Given the description of an element on the screen output the (x, y) to click on. 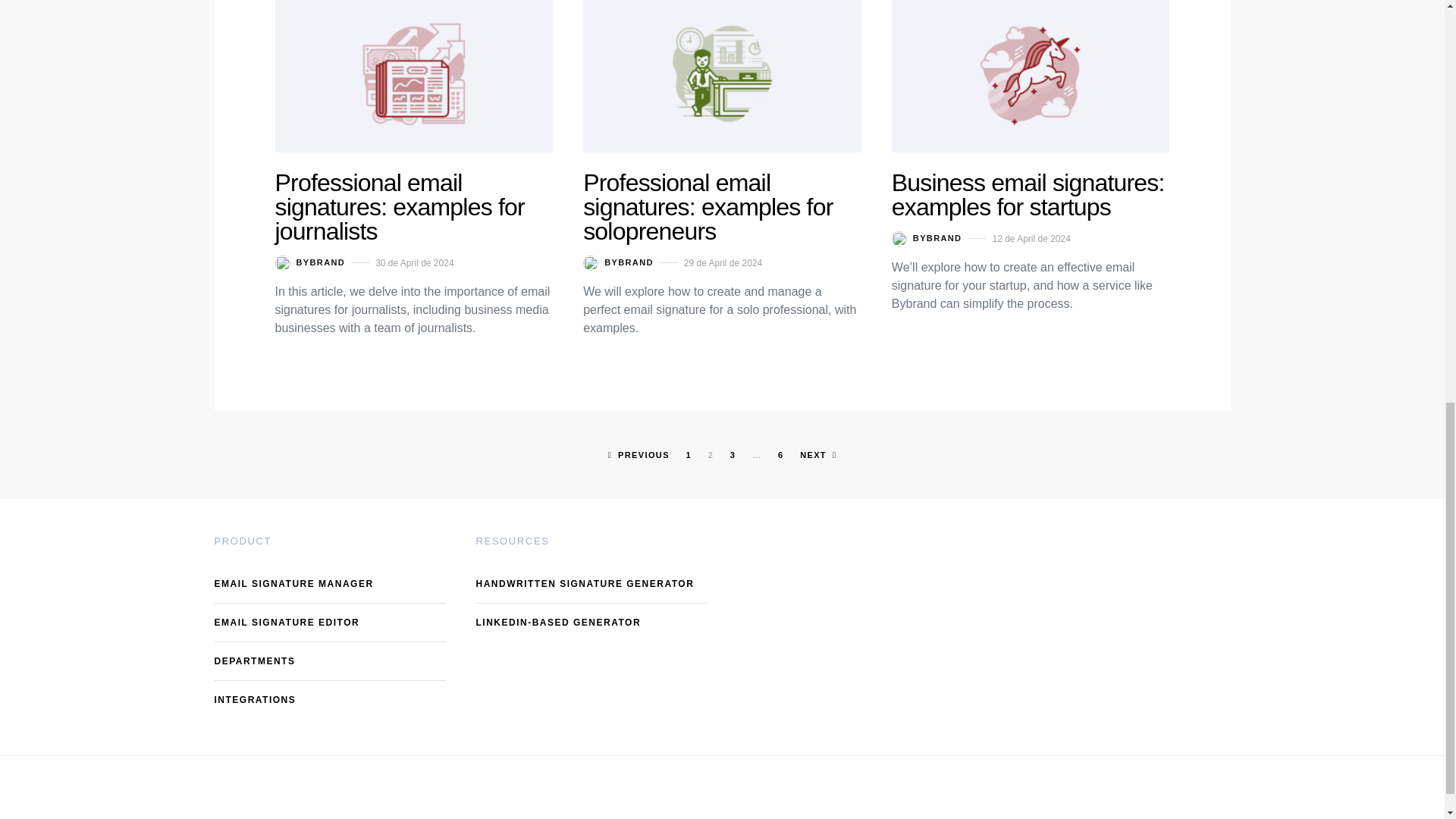
View all posts by Bybrand (926, 238)
BYBRAND (310, 263)
View all posts by Bybrand (310, 263)
BYBRAND (618, 263)
View all posts by Bybrand (618, 263)
Professional email signatures: examples for journalists (399, 206)
Professional email signatures: examples for solopreneurs (707, 206)
